Given the description of an element on the screen output the (x, y) to click on. 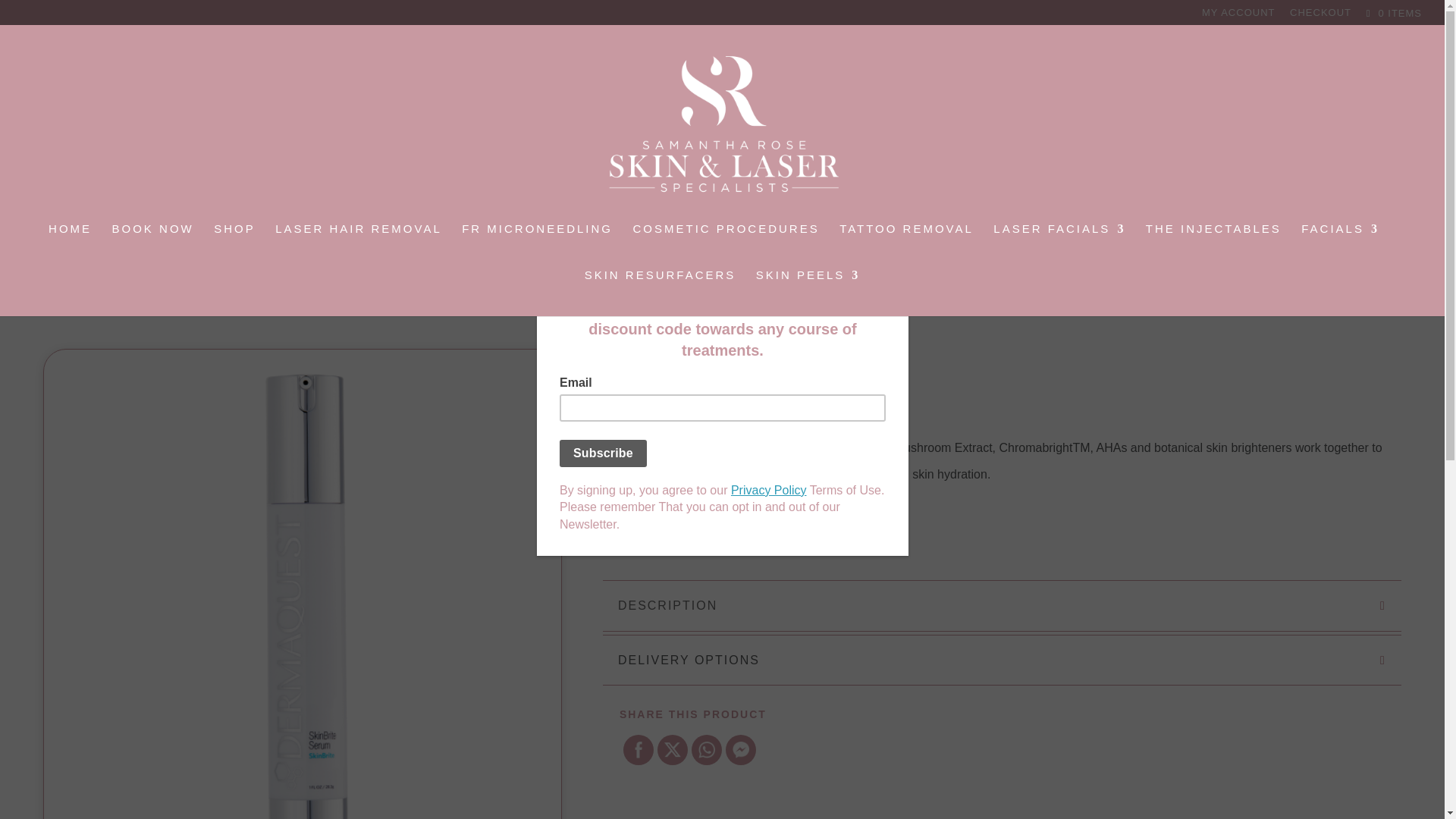
Facebook (638, 750)
Twitter (672, 749)
MY ACCOUNT (1238, 16)
0 ITEMS (1392, 12)
HOME (69, 245)
TATTOO REMOVAL (907, 245)
FR MICRONEEDLING (536, 245)
SKIN RESURFACERS (660, 293)
COSMETIC PROCEDURES (724, 245)
BOOK NOW (152, 245)
FbMessenger (740, 750)
CHECKOUT (1320, 16)
THE INJECTABLES (1213, 245)
1 (630, 528)
